Given the description of an element on the screen output the (x, y) to click on. 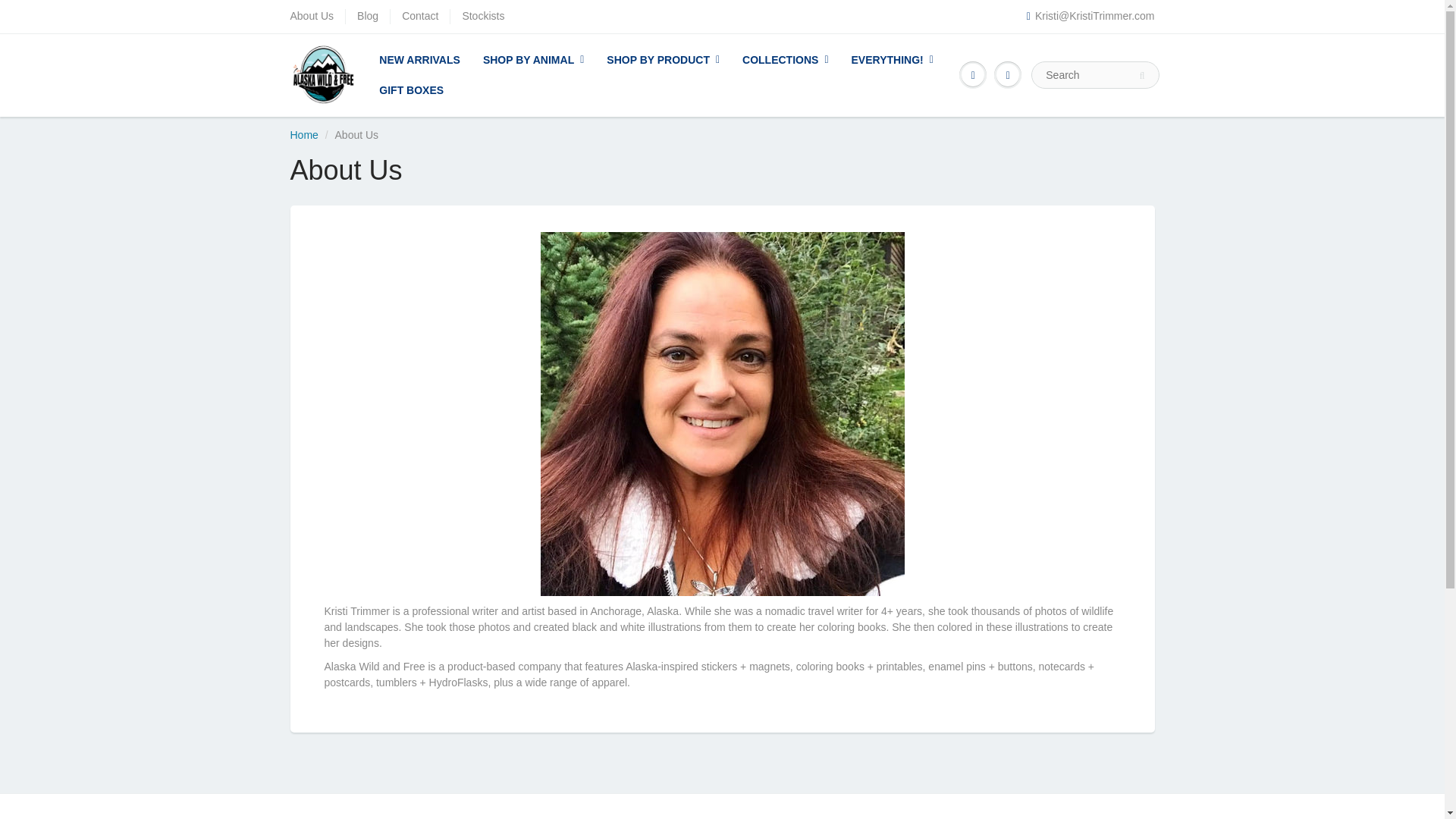
Stockists (482, 16)
Blog (367, 16)
Home (303, 134)
NEW ARRIVALS (419, 60)
COLLECTIONS (785, 60)
About Us (311, 16)
Contact (419, 16)
SHOP BY ANIMAL (533, 60)
SHOP BY PRODUCT (662, 60)
